Given the description of an element on the screen output the (x, y) to click on. 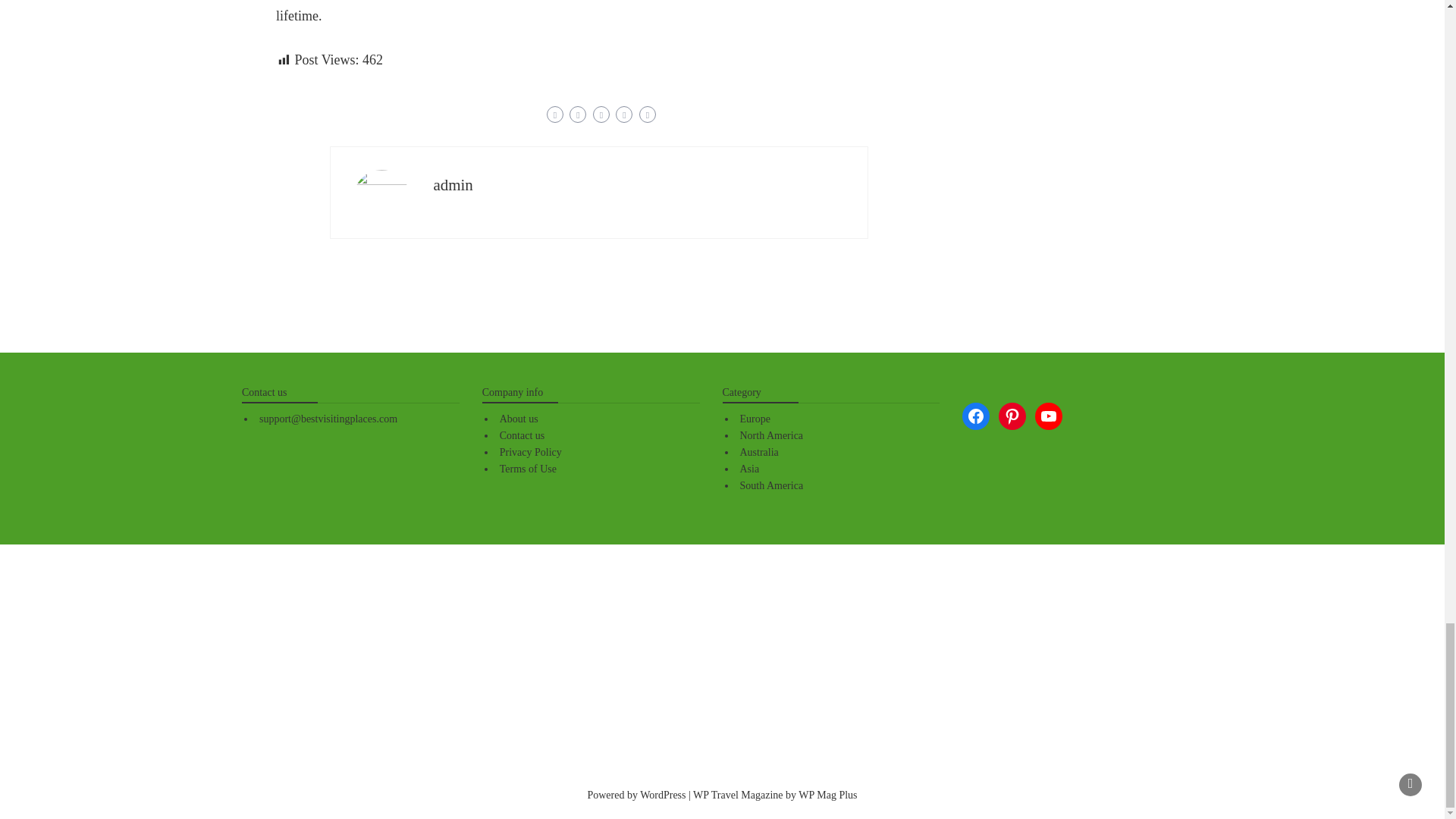
admin (452, 185)
